Given the description of an element on the screen output the (x, y) to click on. 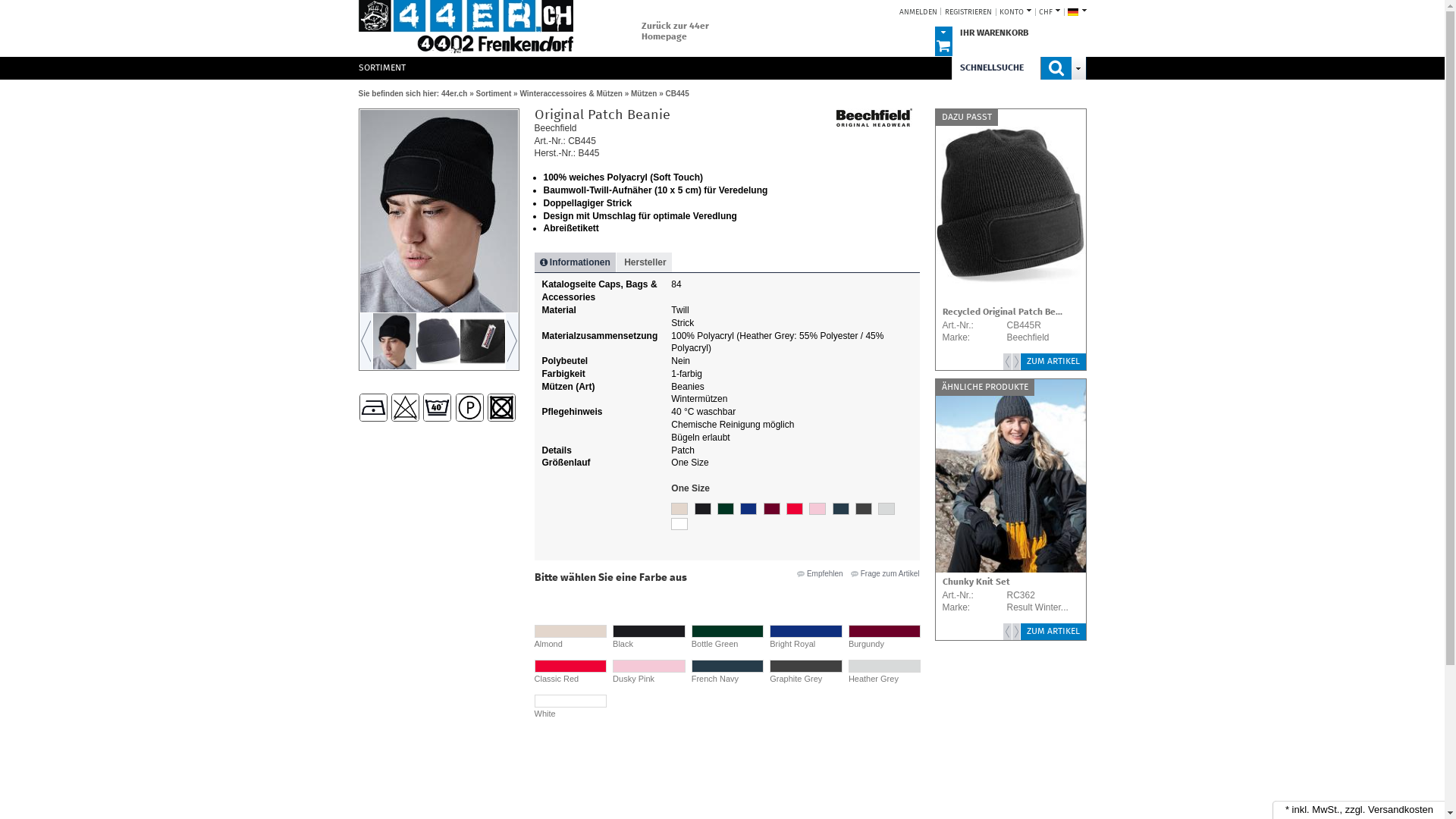
SORTIMENT Element type: text (384, 67)
ZUM ARTIKEL Element type: text (1052, 631)
Almond Element type: text (569, 637)
Black Element type: hover (702, 508)
ZUM ARTIKEL Element type: text (1052, 361)
44er.ch Element type: text (454, 93)
French Navy Element type: text (726, 672)
Black Element type: text (648, 637)
Dusky Pink Element type: text (648, 672)
Burgundy Element type: hover (771, 508)
Classic Red Element type: hover (794, 508)
Bright Royal Element type: hover (748, 508)
White Element type: text (569, 707)
  Element type: text (365, 341)
ANMELDEN Element type: text (918, 11)
Informationen Element type: text (574, 262)
  Element type: text (511, 341)
Graphite Grey Element type: text (804, 672)
Heather Grey Element type: hover (886, 508)
REGISTRIEREN Element type: text (967, 11)
Heather Grey Element type: text (883, 672)
Classic Red Element type: text (569, 672)
KONTO Element type: text (1012, 11)
Sortiment Element type: text (493, 93)
Burgundy Element type: text (883, 637)
Bleichen: Nicht bleichen Element type: hover (405, 407)
French Navy Element type: hover (840, 508)
DE Element type: text (1074, 11)
Almond Element type: hover (679, 508)
Frage zum Artikel Element type: text (884, 573)
Bottle Green Element type: hover (725, 508)
Bottle Green Element type: text (726, 637)
CHF Element type: text (1046, 11)
Empfehlen Element type: text (823, 573)
Bright Royal Element type: text (804, 637)
Trocknen: Nicht im Trockner trocknen Element type: hover (501, 407)
Graphite Grey Element type: hover (863, 508)
Hersteller Element type: text (643, 262)
44er.ch Element type: hover (464, 28)
White Element type: hover (679, 523)
Dusky Pink Element type: hover (817, 508)
